Given the description of an element on the screen output the (x, y) to click on. 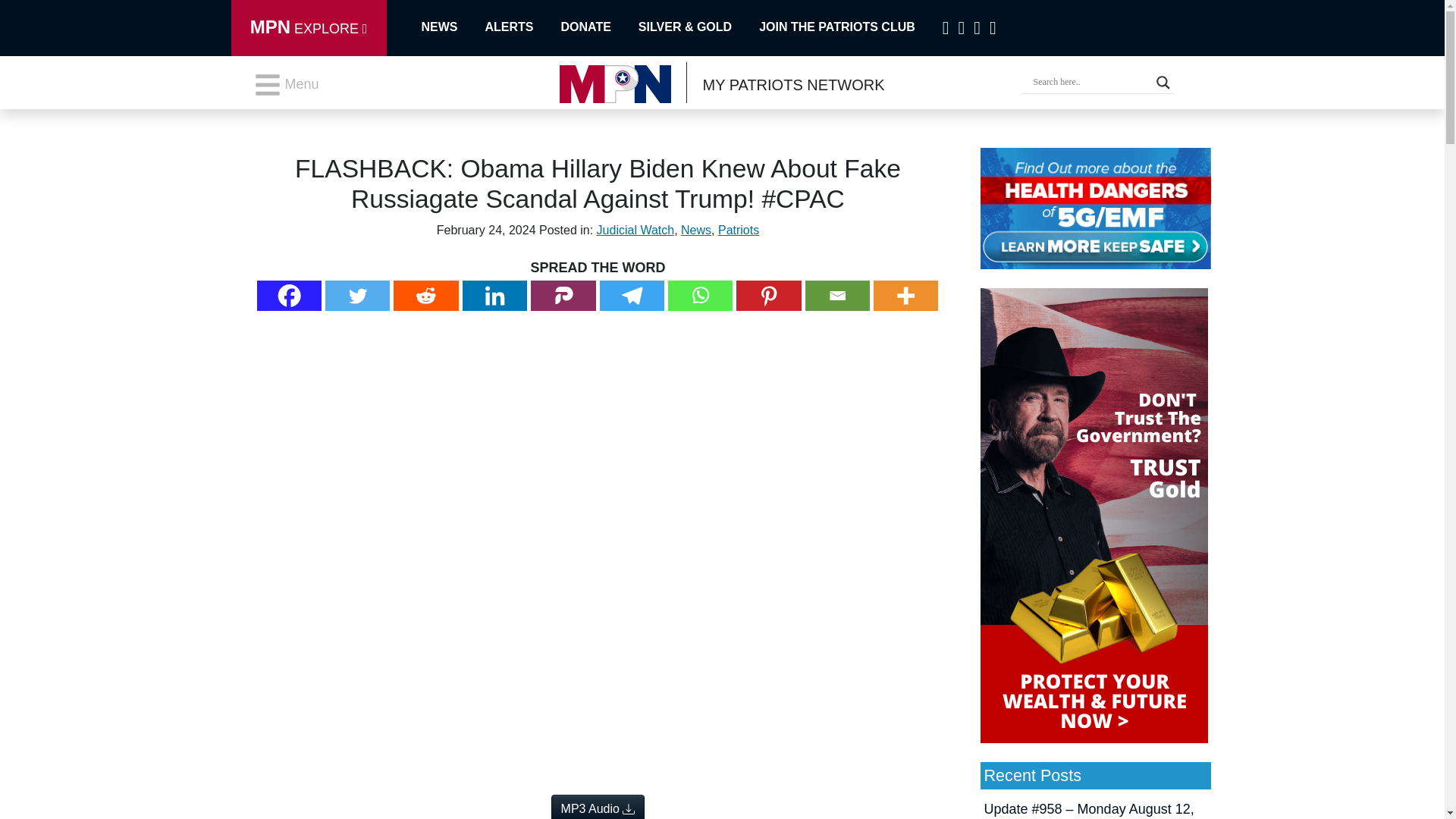
Telegram (630, 295)
ALERTS (522, 26)
NEWS (442, 26)
Twitter (357, 295)
Menu (285, 84)
Parler (563, 295)
Email (837, 295)
More (906, 295)
JOIN THE PATRIOTS CLUB (850, 26)
Facebook (289, 295)
